Given the description of an element on the screen output the (x, y) to click on. 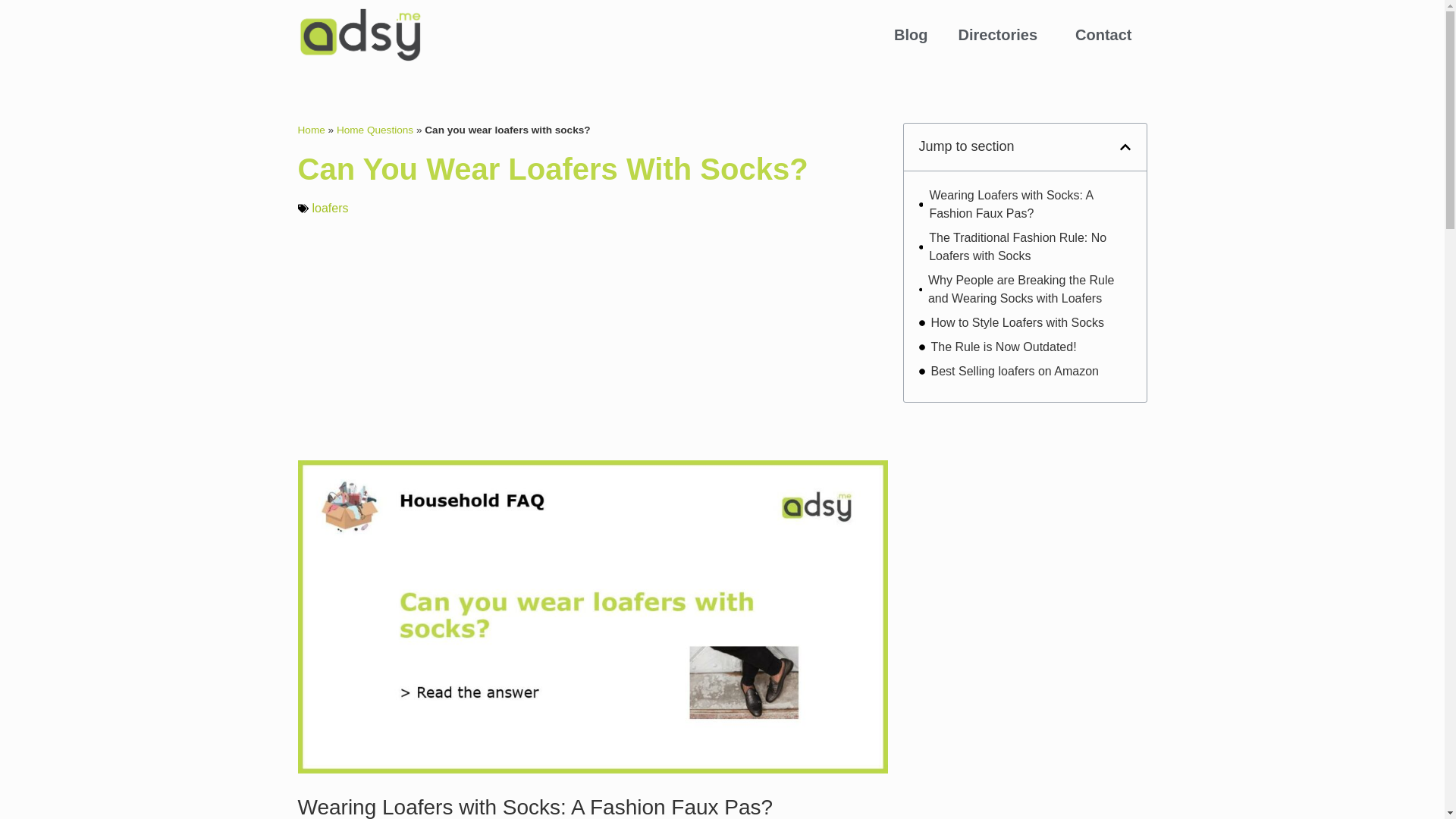
Advertisement (1024, 512)
Advertisement (591, 338)
Blog (910, 34)
Contact (1103, 34)
Advertisement (1024, 720)
Directories (1002, 34)
